Given the description of an element on the screen output the (x, y) to click on. 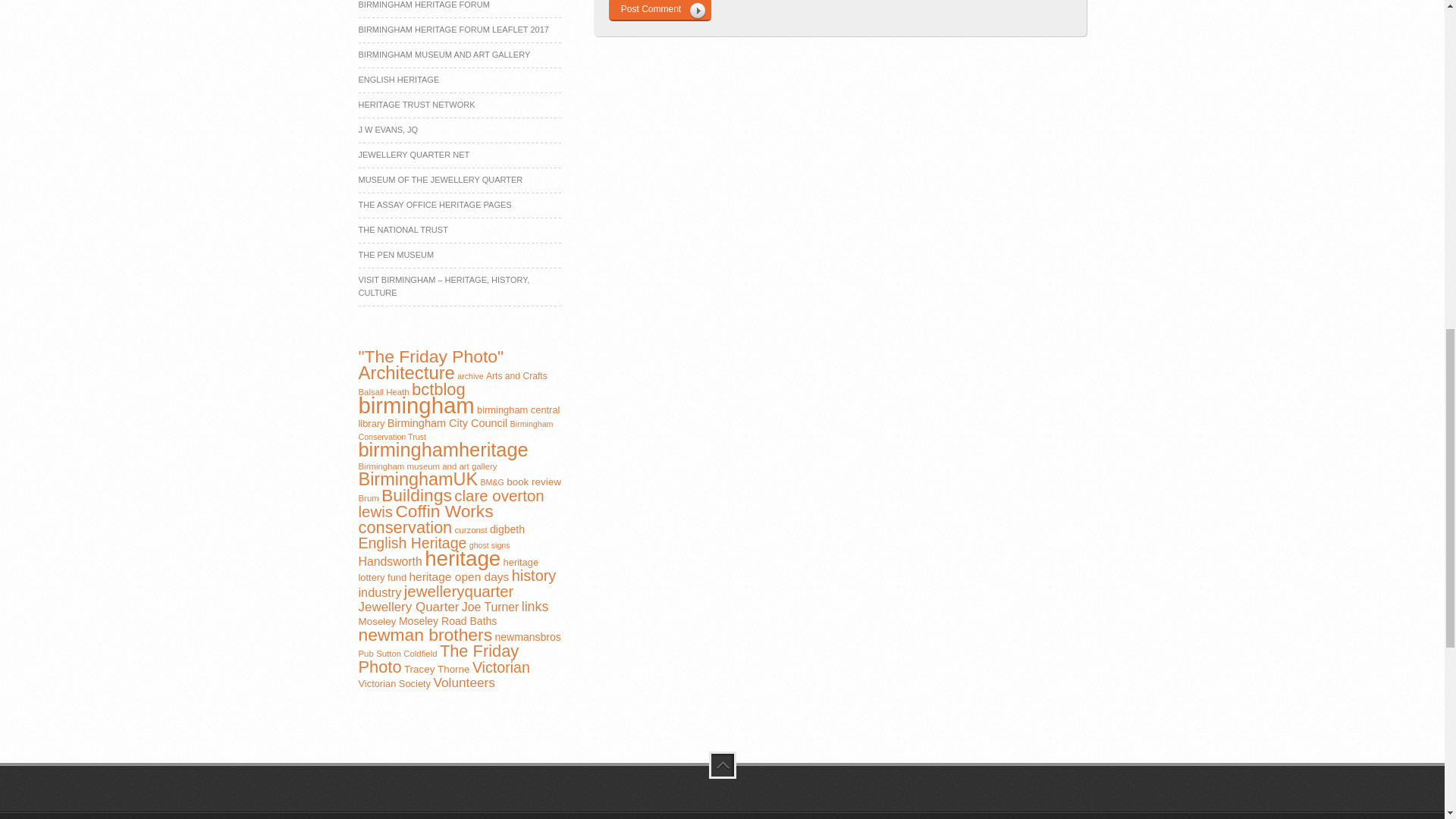
Post Comment (659, 10)
Go to Top! (721, 764)
Birmingham Heritage Forum leaflet 2017 (453, 29)
